Given the description of an element on the screen output the (x, y) to click on. 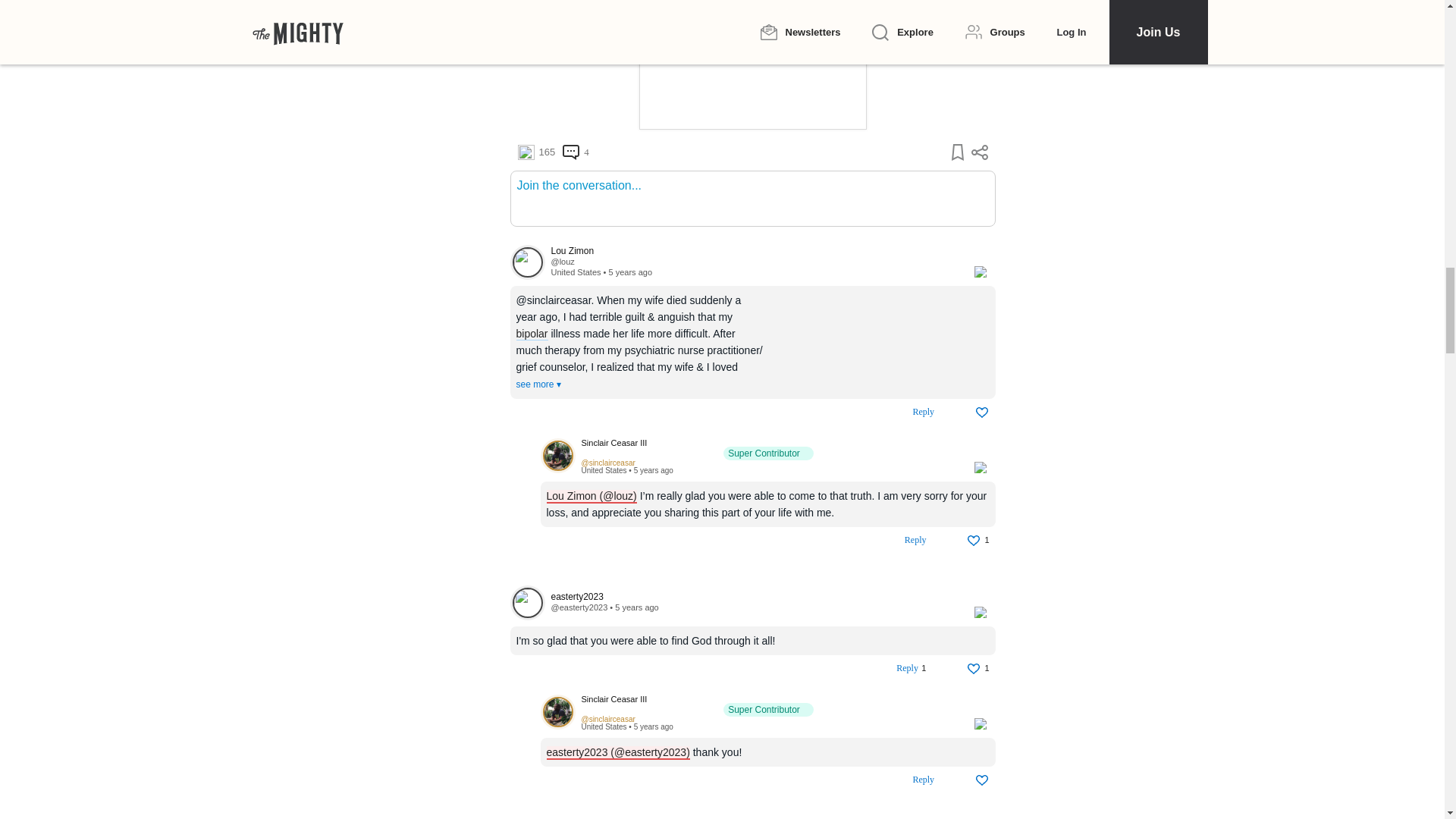
Show more of this comment (537, 384)
View their profile (769, 448)
View their profile (561, 261)
bipolar (531, 333)
View their profile (607, 462)
View their profile (557, 456)
View their profile (754, 251)
View their profile (526, 262)
